Given the description of an element on the screen output the (x, y) to click on. 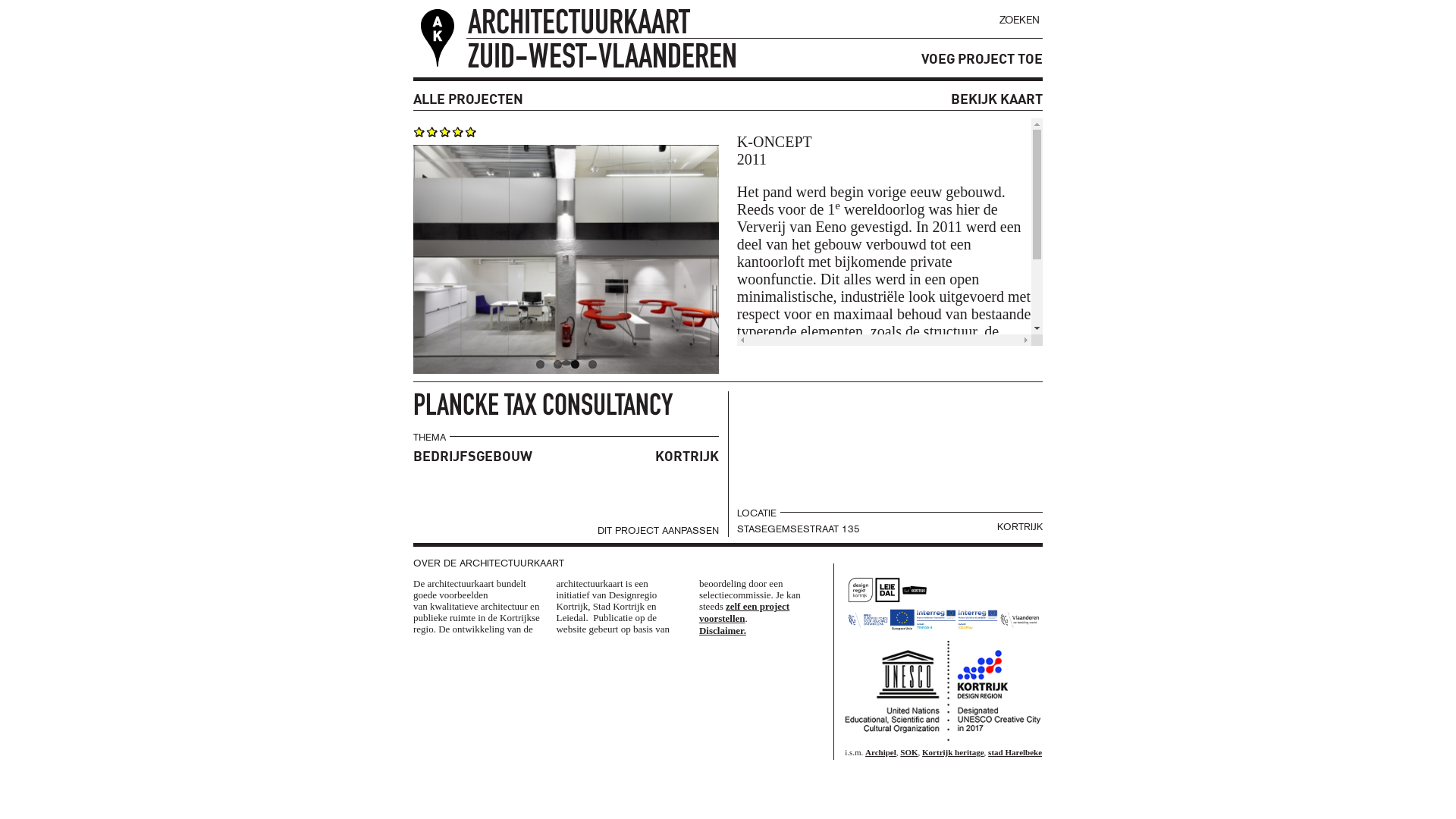
zelf een project voorstellen Element type: text (744, 612)
BEKIJK KAART Element type: text (994, 98)
Rate Element type: text (25, 14)
2 Element type: text (557, 364)
Archipel Element type: text (880, 751)
KORTRIJK Element type: text (684, 456)
ALLE PROJECTEN Element type: text (473, 98)
Disclaimer. Element type: text (722, 630)
1 Element type: text (540, 364)
stad Harelbeke Element type: text (1014, 751)
DIT PROJECT AANPASSEN Element type: text (658, 530)
SOK Element type: text (908, 751)
WWW.K-ONCEPT.COM Element type: text (812, 416)
Kortrijk heritage Element type: text (953, 751)
3 Element type: text (575, 364)
ARCHITECTUURKAART ZUID-WEST-VLAANDEREN Element type: text (584, 26)
4 Element type: text (592, 364)
BEDRIJFSGEBOUW Element type: text (477, 456)
VOEG PROJECT TOE Element type: text (973, 58)
